Given the description of an element on the screen output the (x, y) to click on. 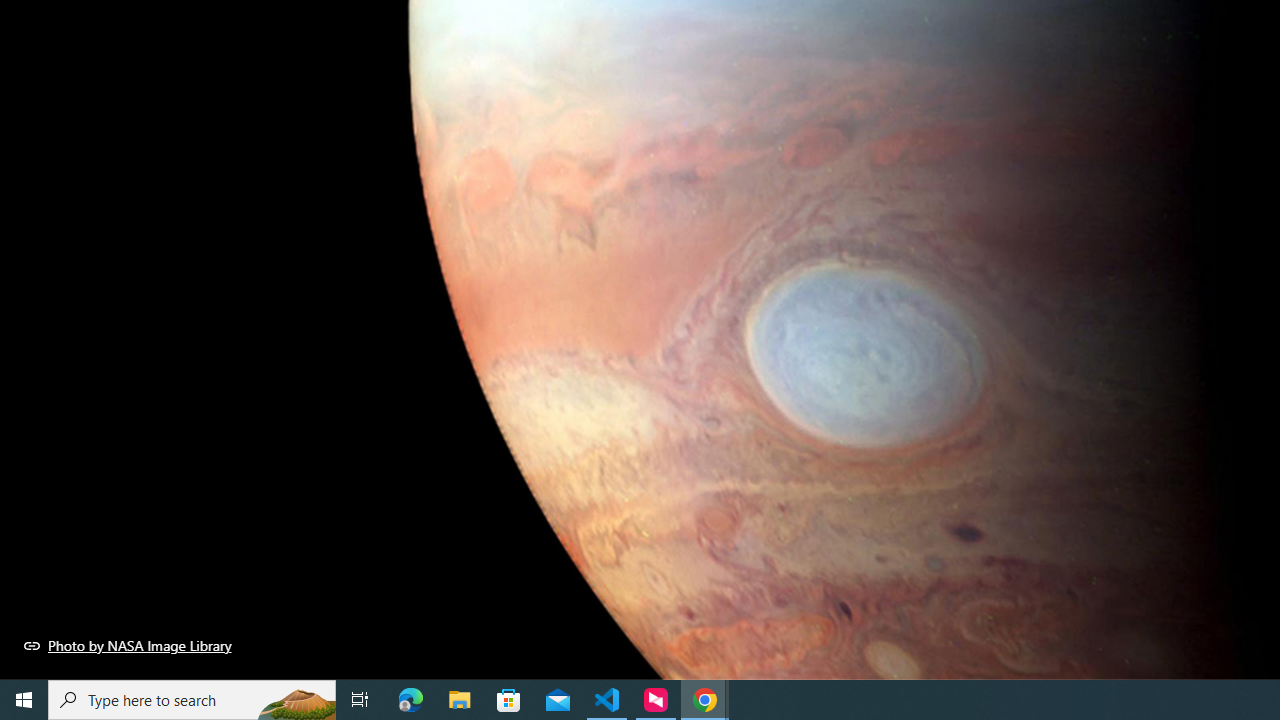
Photo by NASA Image Library (127, 645)
